Given the description of an element on the screen output the (x, y) to click on. 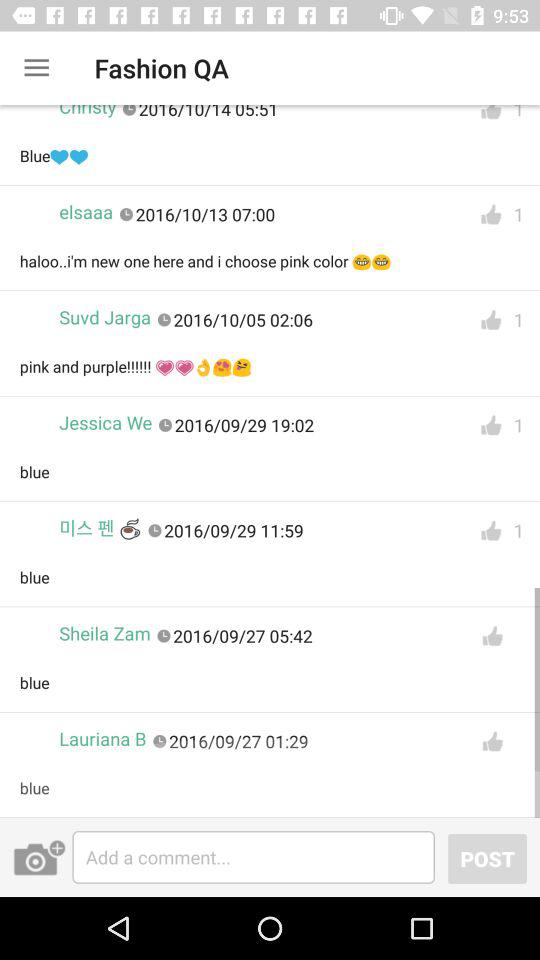
click item below blue item (487, 858)
